Given the description of an element on the screen output the (x, y) to click on. 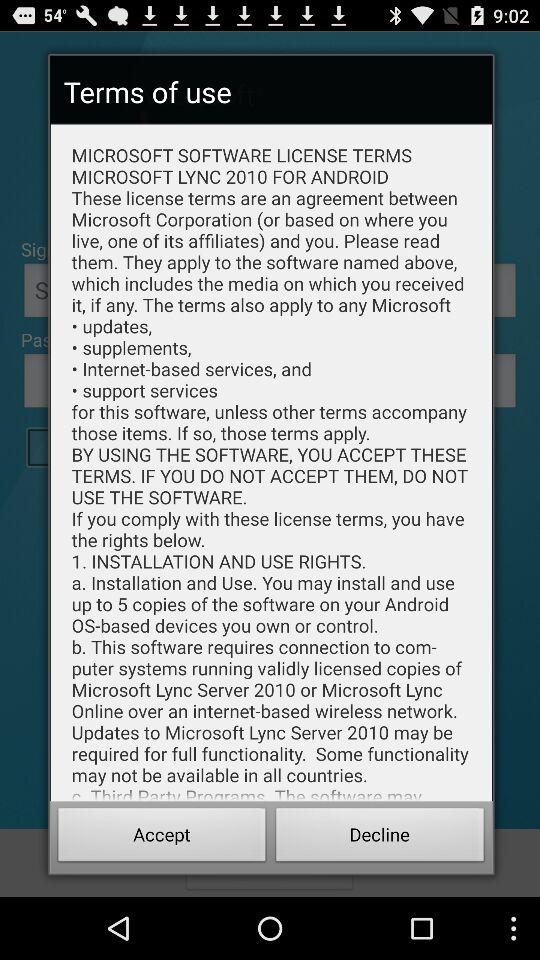
turn off the decline at the bottom right corner (380, 837)
